Given the description of an element on the screen output the (x, y) to click on. 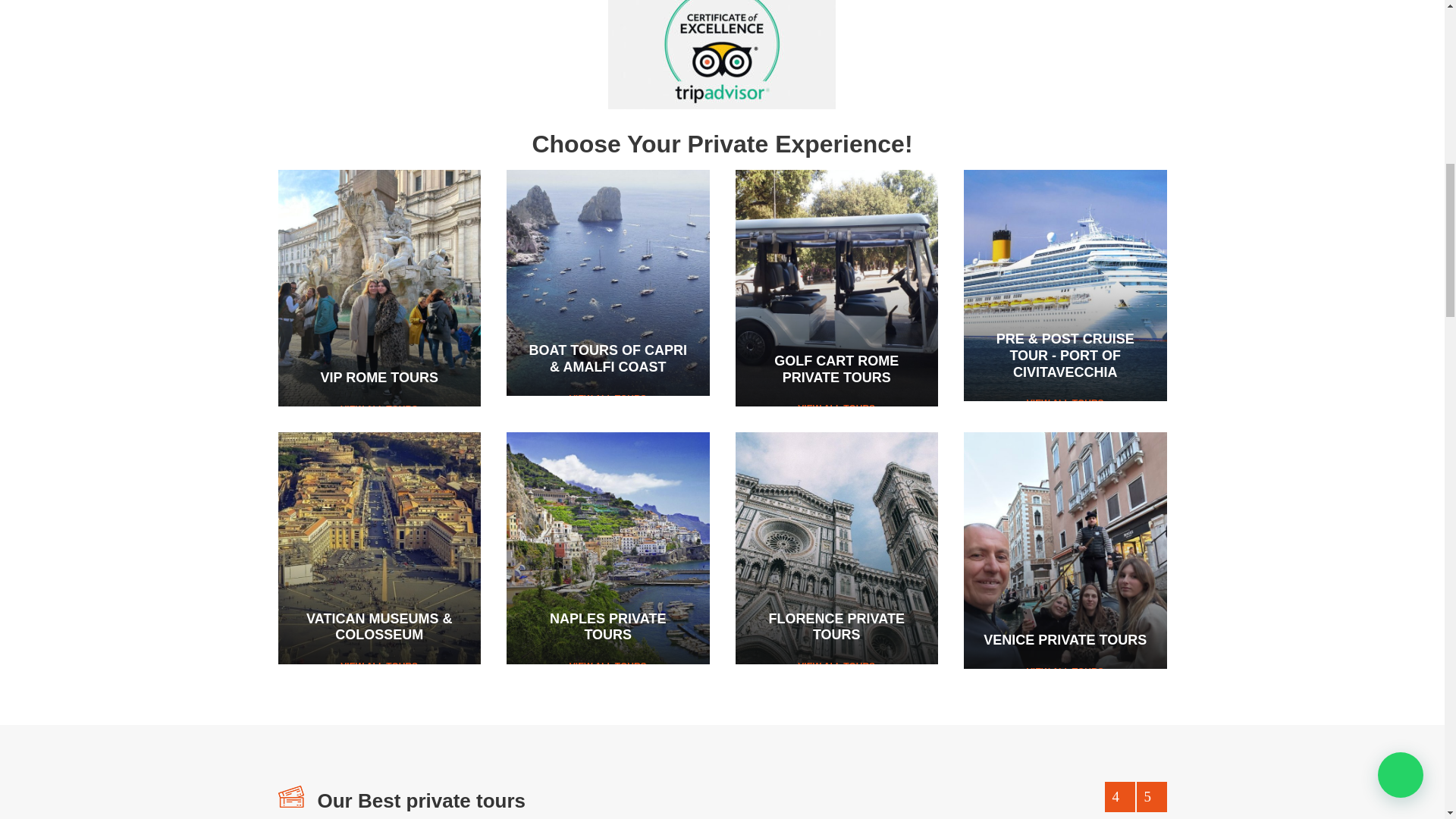
title-icon-2 (290, 796)
